Given the description of an element on the screen output the (x, y) to click on. 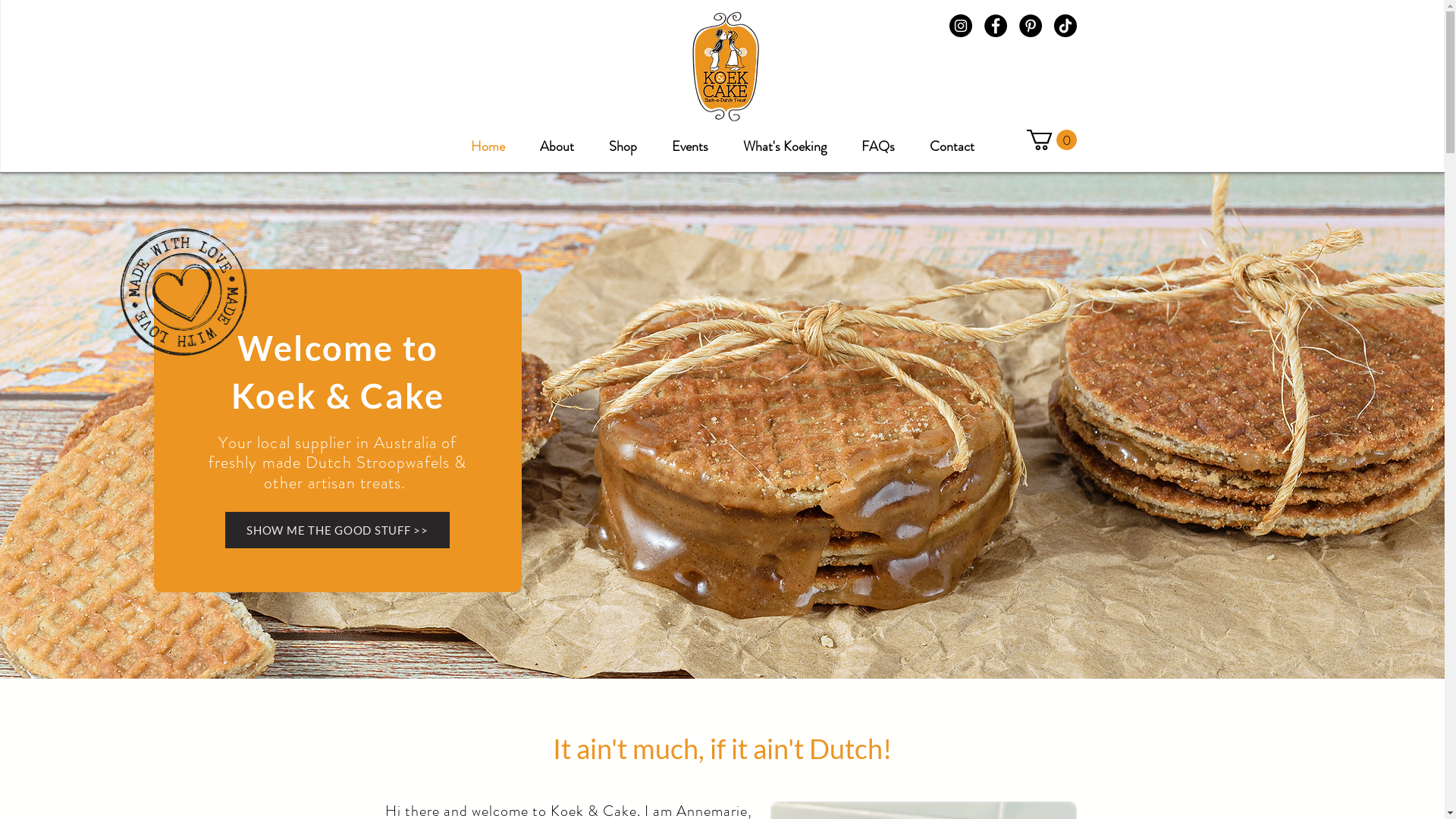
SHOW ME THE GOOD STUFF >> Element type: text (337, 529)
0 Element type: text (1051, 139)
About Element type: text (556, 139)
Contact Element type: text (951, 139)
What's Koeking Element type: text (784, 139)
FAQs Element type: text (878, 139)
Home Element type: text (487, 139)
Events Element type: text (689, 139)
Shop Element type: text (622, 139)
